Given the description of an element on the screen output the (x, y) to click on. 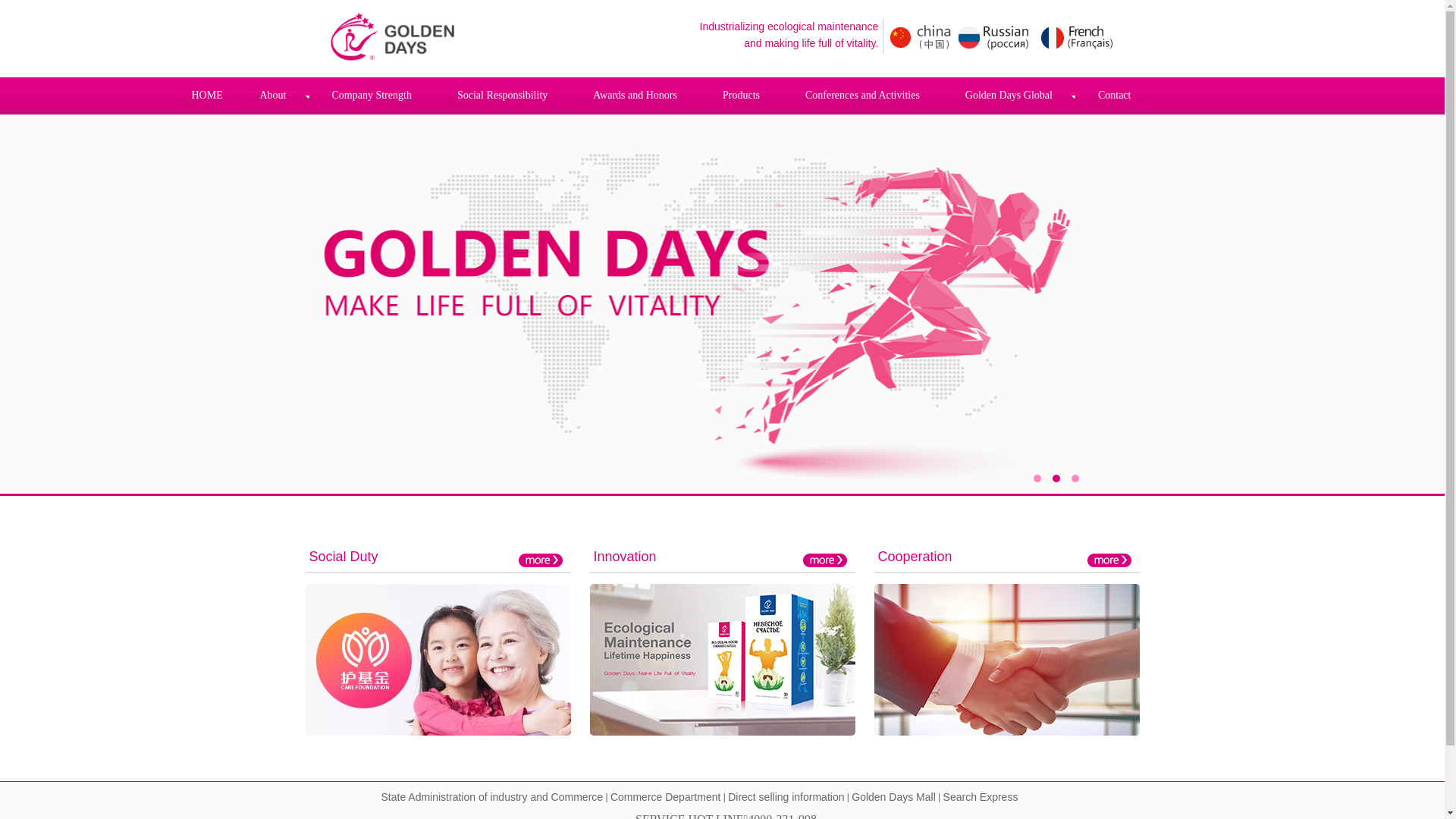
Conferences and Activities Element type: text (862, 95)
Company Strength Element type: text (371, 95)
1 Element type: text (1036, 478)
HOME Element type: text (206, 94)
Golden Days Mall Element type: text (893, 797)
Innovation Element type: text (624, 556)
Golden Days Global Element type: text (1008, 95)
Cooperation Element type: text (915, 556)
3 Element type: text (1074, 478)
Social Duty Element type: text (343, 556)
Social Responsibility Element type: text (502, 95)
Search Express Element type: text (980, 797)
Awards and Honors Element type: text (634, 95)
Commerce Department Element type: text (665, 797)
Products Element type: text (740, 95)
State Administration of industry and Commerce Element type: text (491, 797)
2 Element type: text (1056, 478)
Contact Element type: text (1114, 95)
Direct selling information Element type: text (786, 797)
About Element type: text (272, 95)
